Given the description of an element on the screen output the (x, y) to click on. 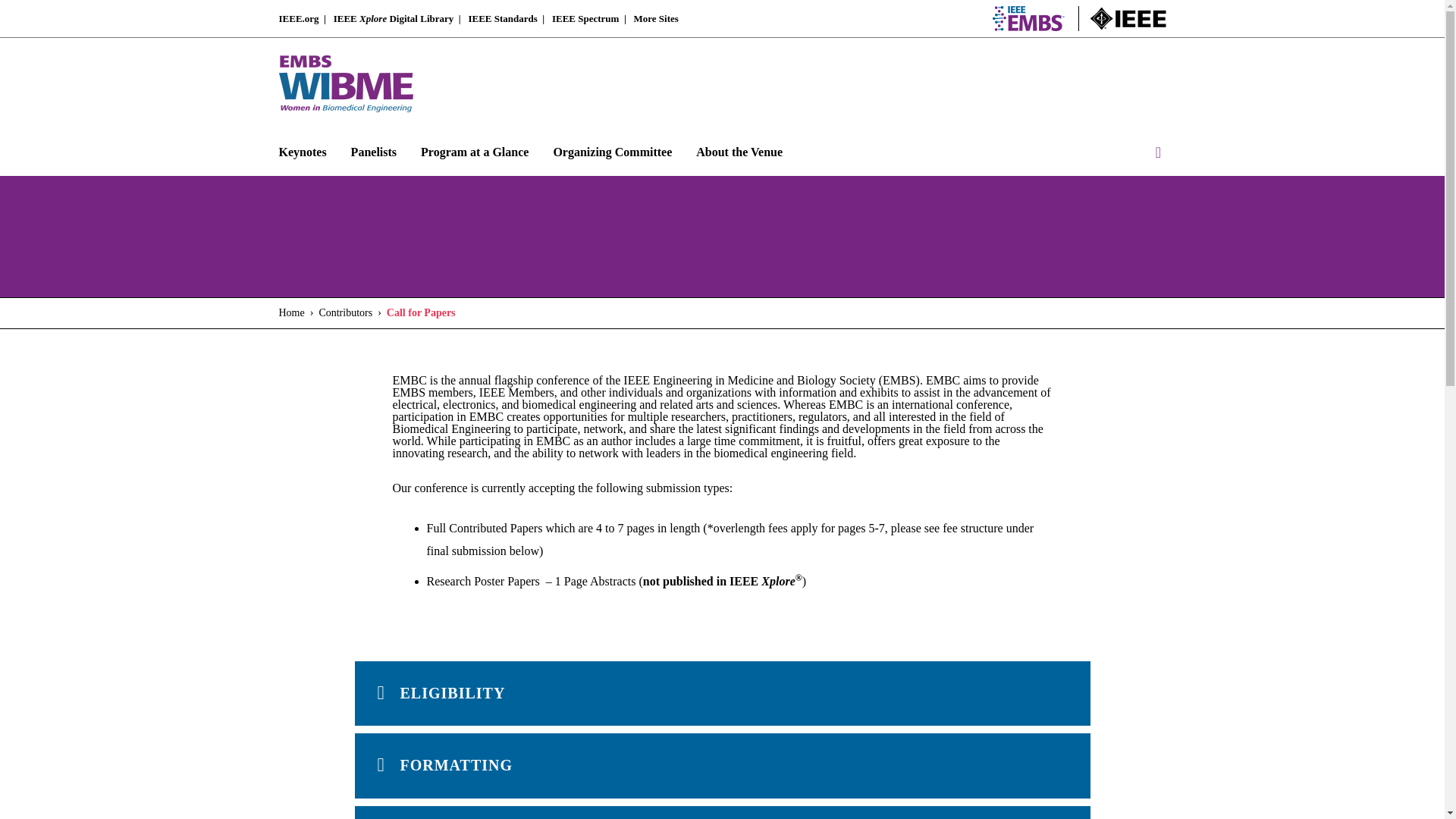
About the Venue (750, 152)
Panelists (385, 152)
embs.org (1028, 18)
IEEE Standards (502, 18)
IEEE Xplore Digital Library (393, 18)
Program at a Glance (486, 152)
Visit embs.org (1028, 18)
Visit IEEE.org (1128, 18)
Organizing Committee (624, 152)
IEEE Spectrum (584, 18)
